Given the description of an element on the screen output the (x, y) to click on. 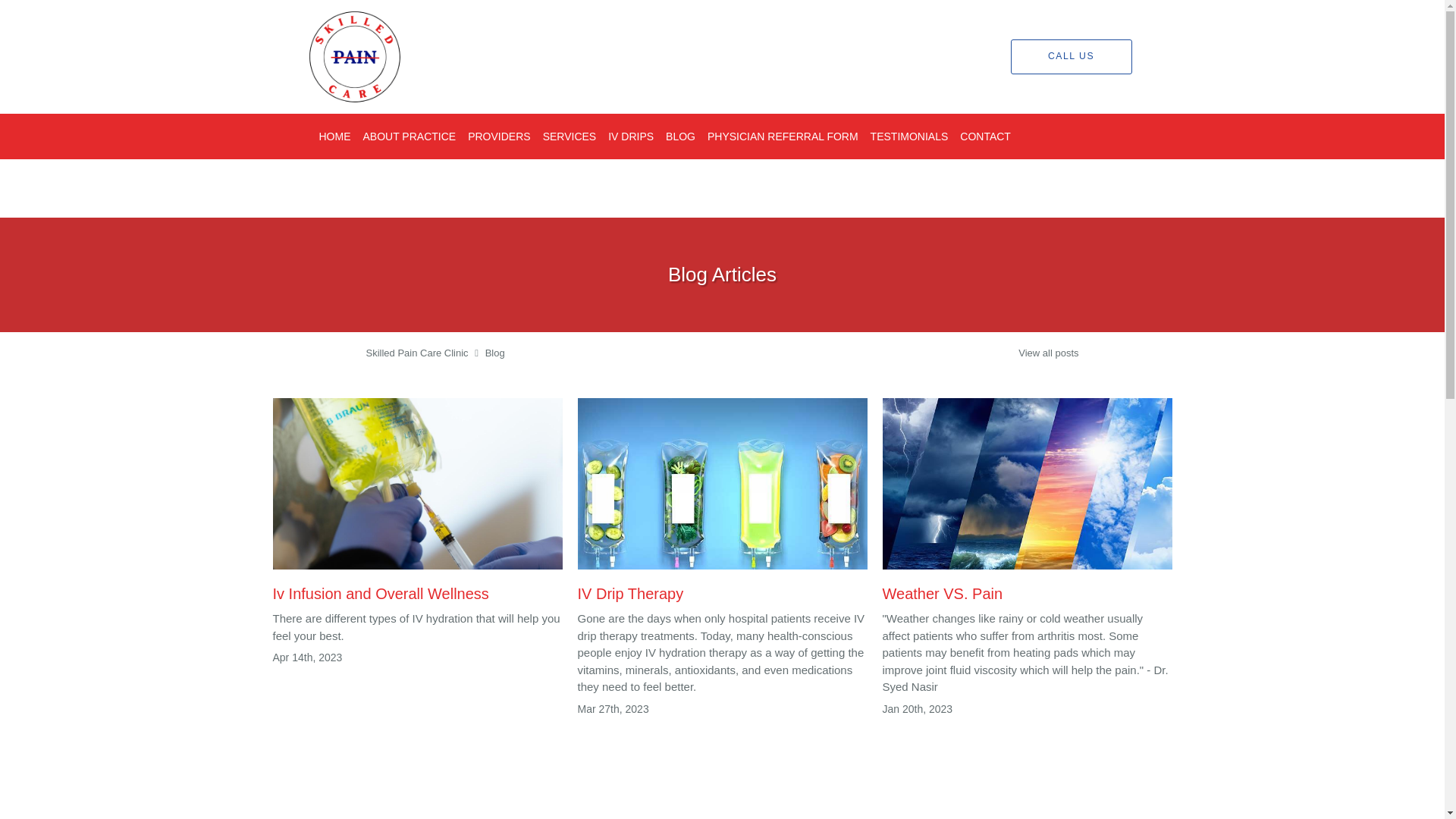
View all posts (1047, 353)
PROVIDERS (498, 136)
BLOG (680, 136)
IV DRIPS (630, 136)
Iv Infusion and Overall Wellness (417, 504)
ABOUT PRACTICE (408, 136)
SERVICES (569, 136)
HOME (334, 136)
CALL US (1070, 56)
Skilled Pain Care Clinic (416, 352)
Blog (494, 352)
PHYSICIAN REFERRAL FORM (782, 136)
TESTIMONIALS (909, 136)
IV Drip Therapy (722, 504)
Weather VS. Pain (1027, 504)
